Given the description of an element on the screen output the (x, y) to click on. 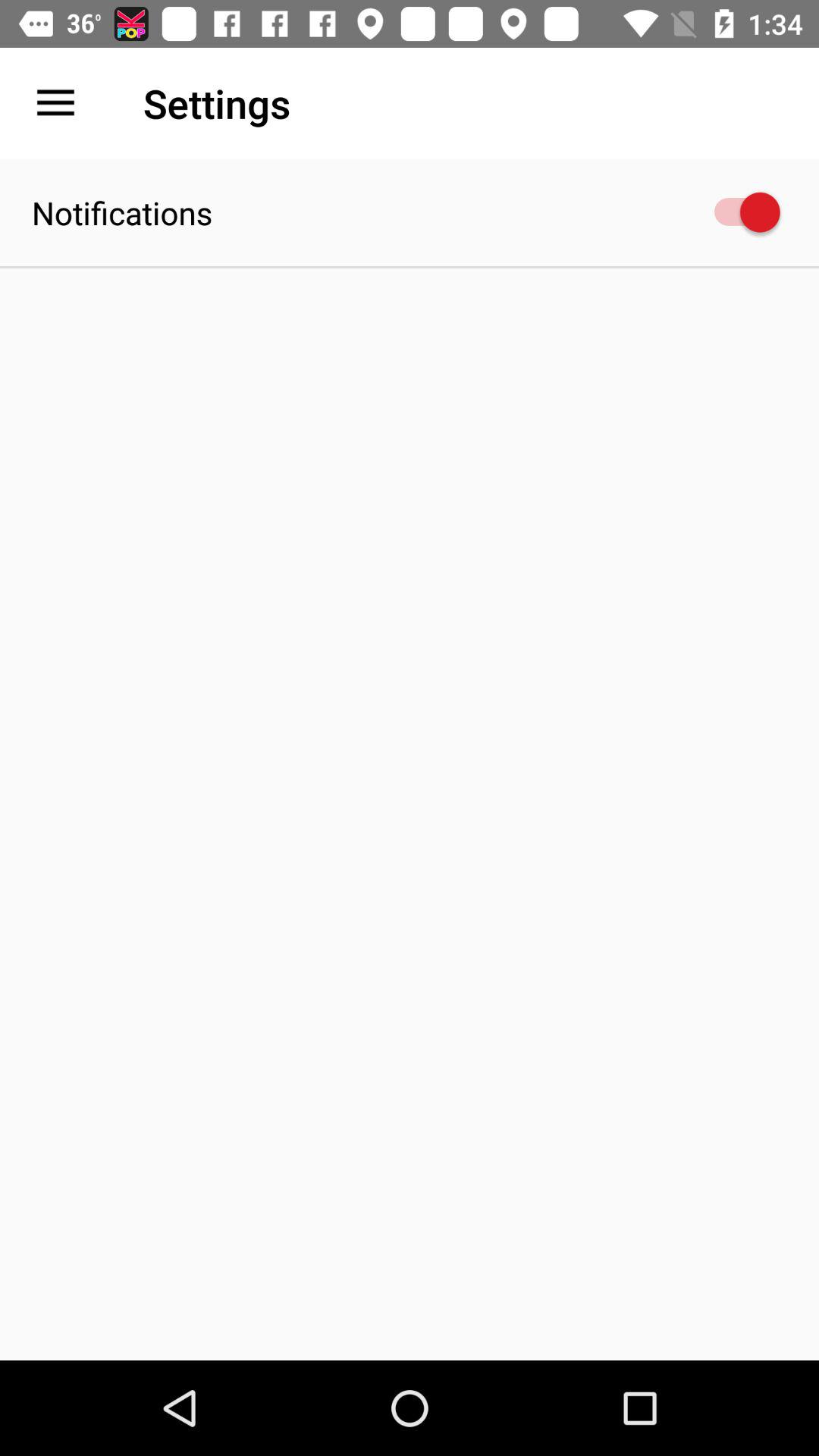
tap icon at the top right corner (739, 212)
